Given the description of an element on the screen output the (x, y) to click on. 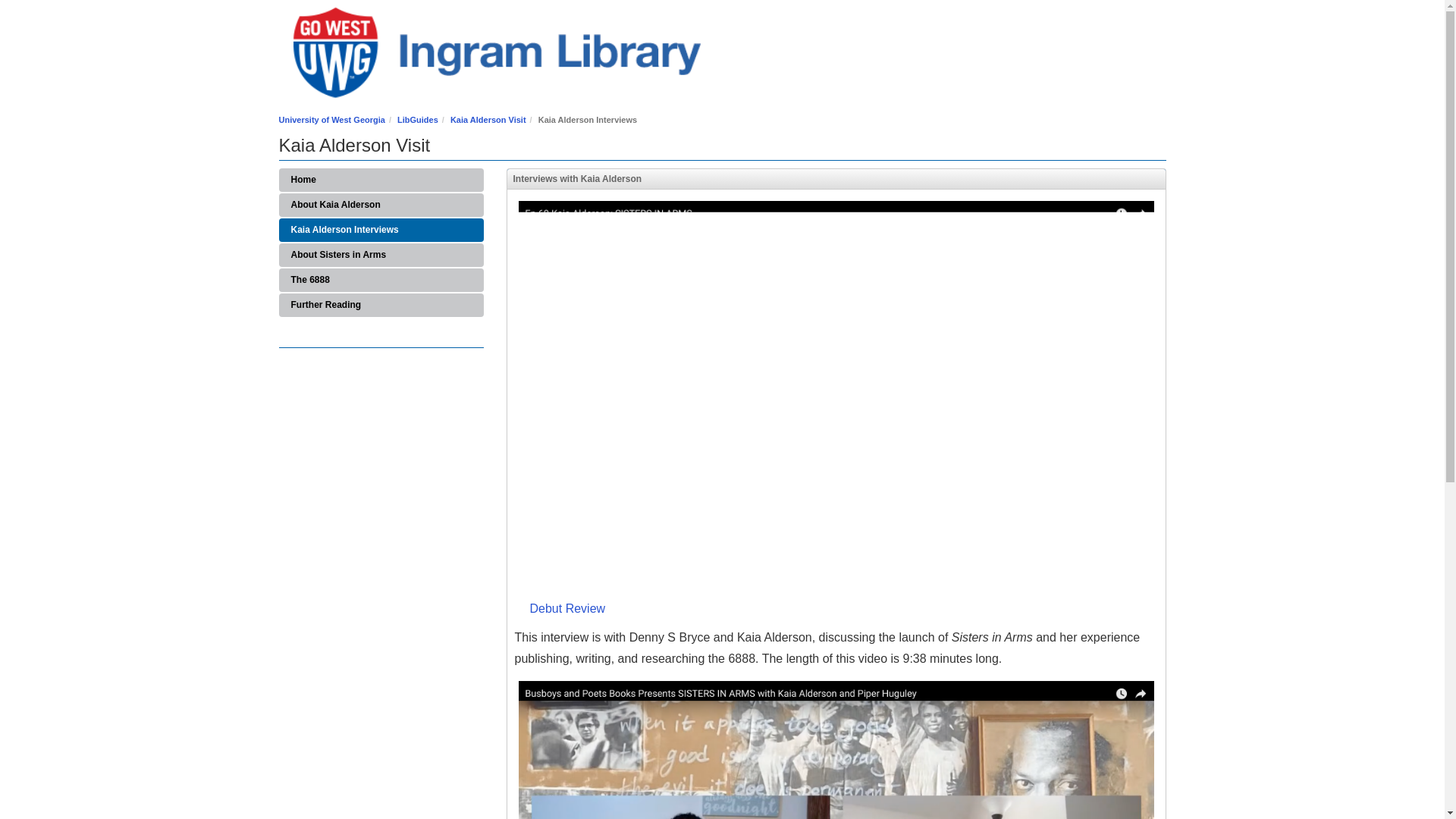
About Kaia Alderson (381, 205)
Home (381, 179)
About Sisters in Arms (381, 254)
Kaia Alderson Visit (487, 119)
LibGuides (417, 119)
University of West Georgia (332, 119)
The 6888 (381, 279)
Further Reading (381, 304)
Kaia Alderson Interviews (381, 229)
